Given the description of an element on the screen output the (x, y) to click on. 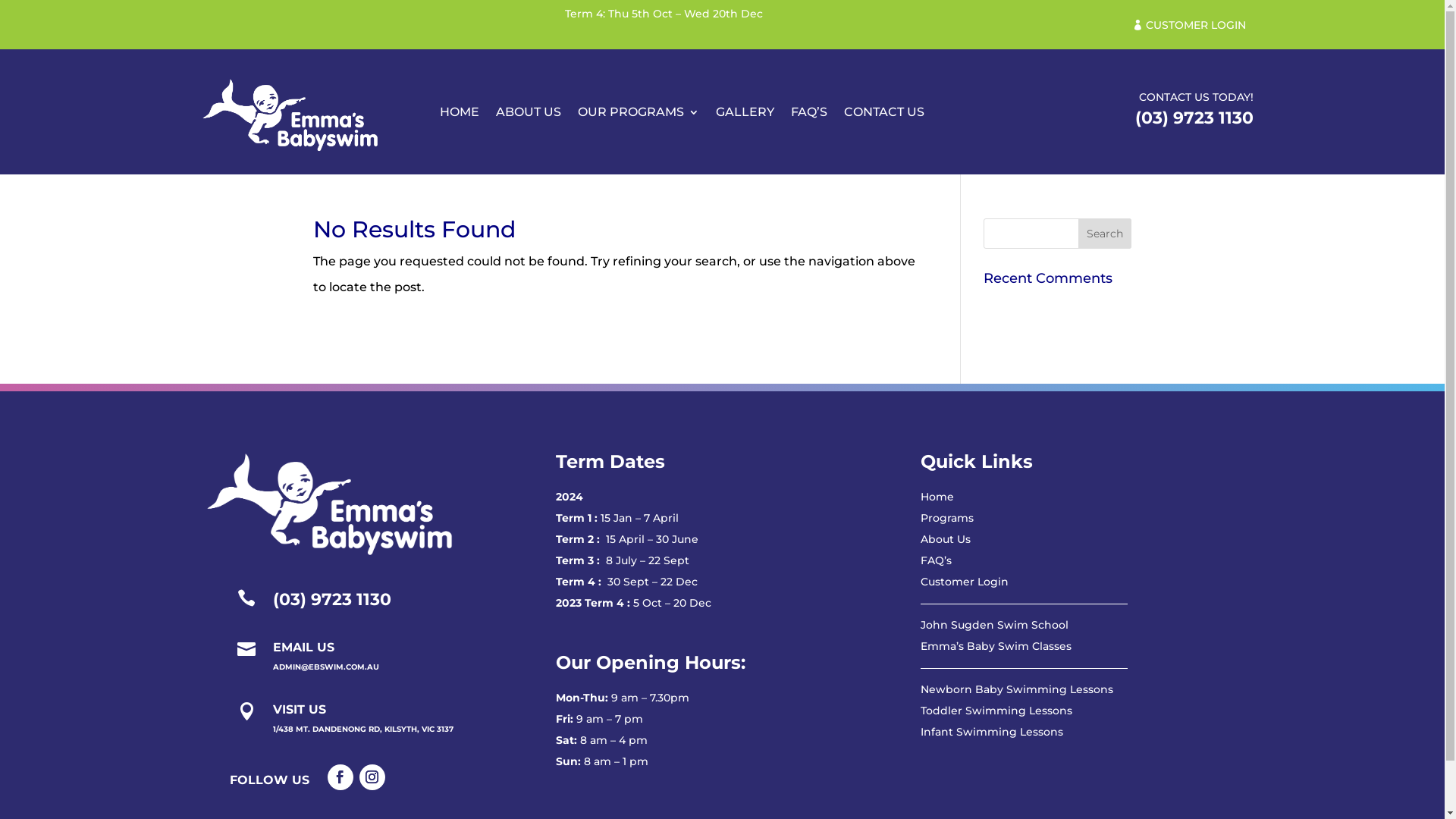
ADMIN@EBSWIM.COM.AU Element type: text (326, 666)
Customer Login Element type: text (964, 581)
GALLERY Element type: text (744, 114)
John Sugden Swim School Element type: text (994, 624)
Toddler Swimming Lessons Element type: text (996, 710)
(03) 9723 1130 Element type: text (332, 599)
Infant Swimming Lessons Element type: text (991, 731)
CONTACT US Element type: text (883, 114)
About Us Element type: text (945, 539)
Programs Element type: text (946, 517)
EMAIL US Element type: text (303, 647)
ABOUT US Element type: text (528, 114)
OUR PROGRAMS Element type: text (638, 114)
Search Element type: text (1104, 233)
(03) 9723 1130 Element type: text (1193, 117)
Newborn Baby Swimming Lessons Element type: text (1016, 689)
CUSTOMER LOGIN Element type: text (1188, 24)
HOME Element type: text (459, 114)
Home Element type: text (936, 496)
